Given the description of an element on the screen output the (x, y) to click on. 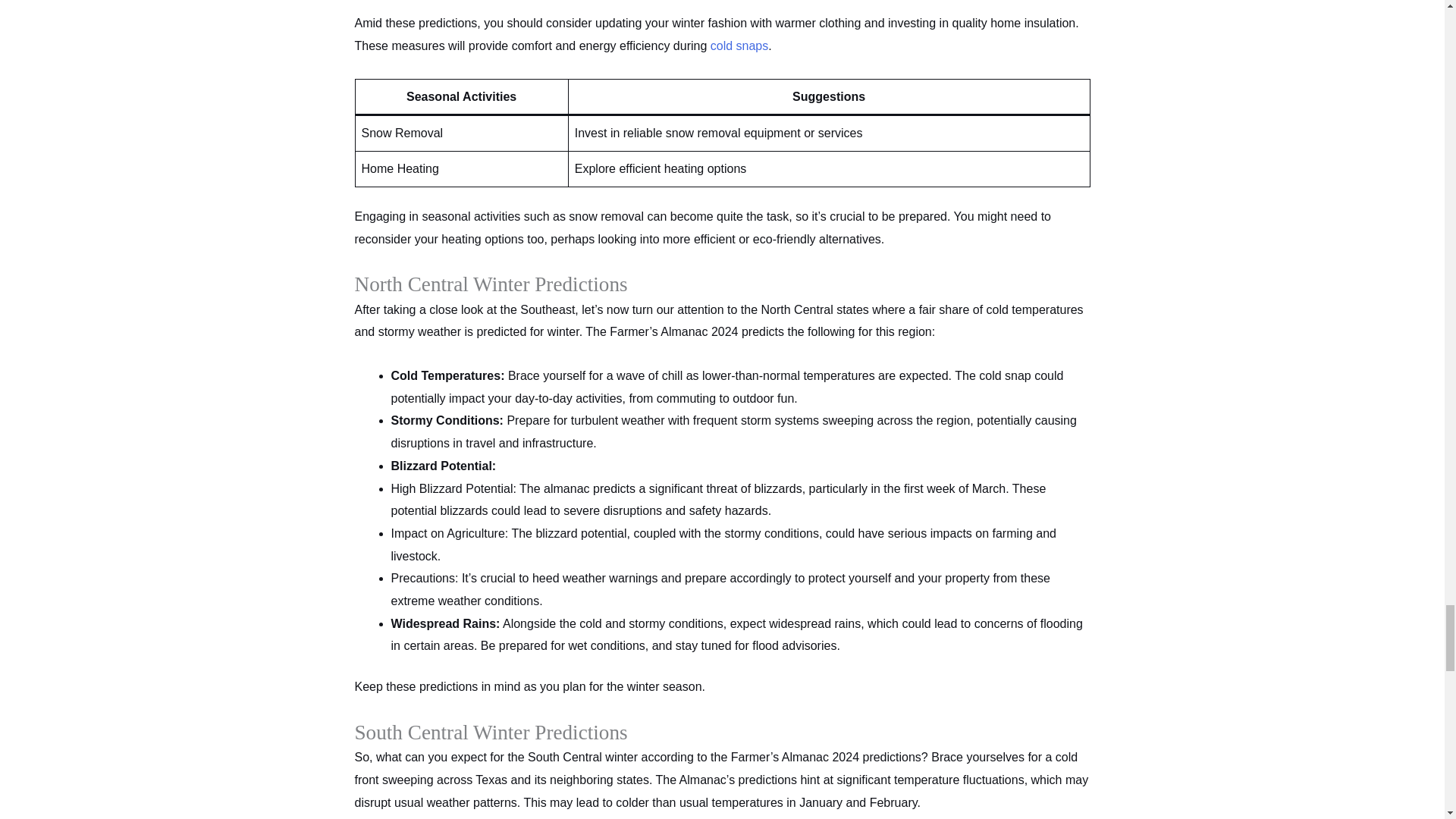
cold snaps (739, 45)
